Given the description of an element on the screen output the (x, y) to click on. 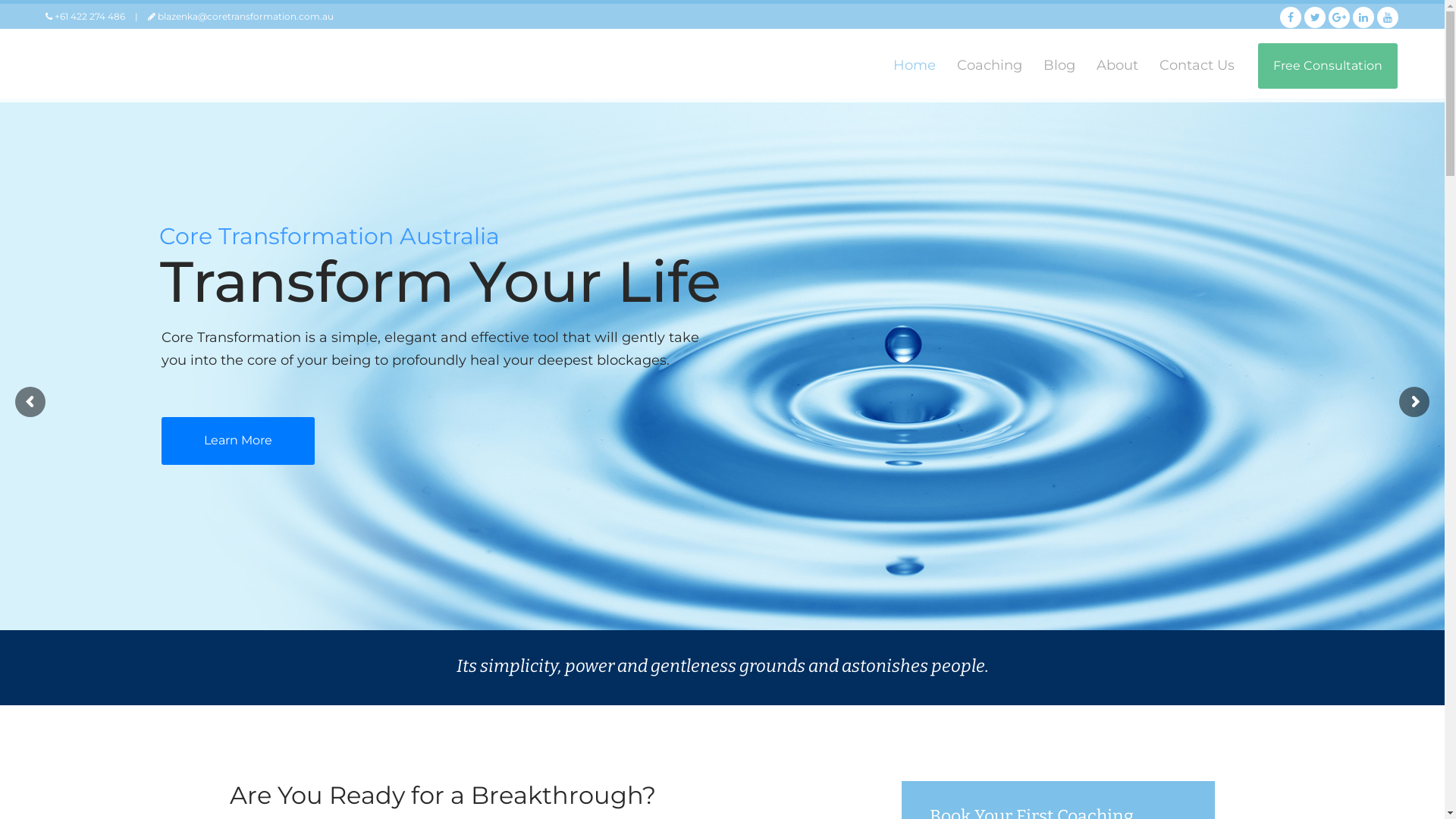
Home Element type: text (914, 65)
About Element type: text (1116, 65)
Free Consultation Element type: text (1327, 64)
Blog Element type: text (1058, 65)
Coaching Element type: text (989, 65)
Contact Us Element type: text (1196, 65)
Learn More Element type: text (237, 440)
